Given the description of an element on the screen output the (x, y) to click on. 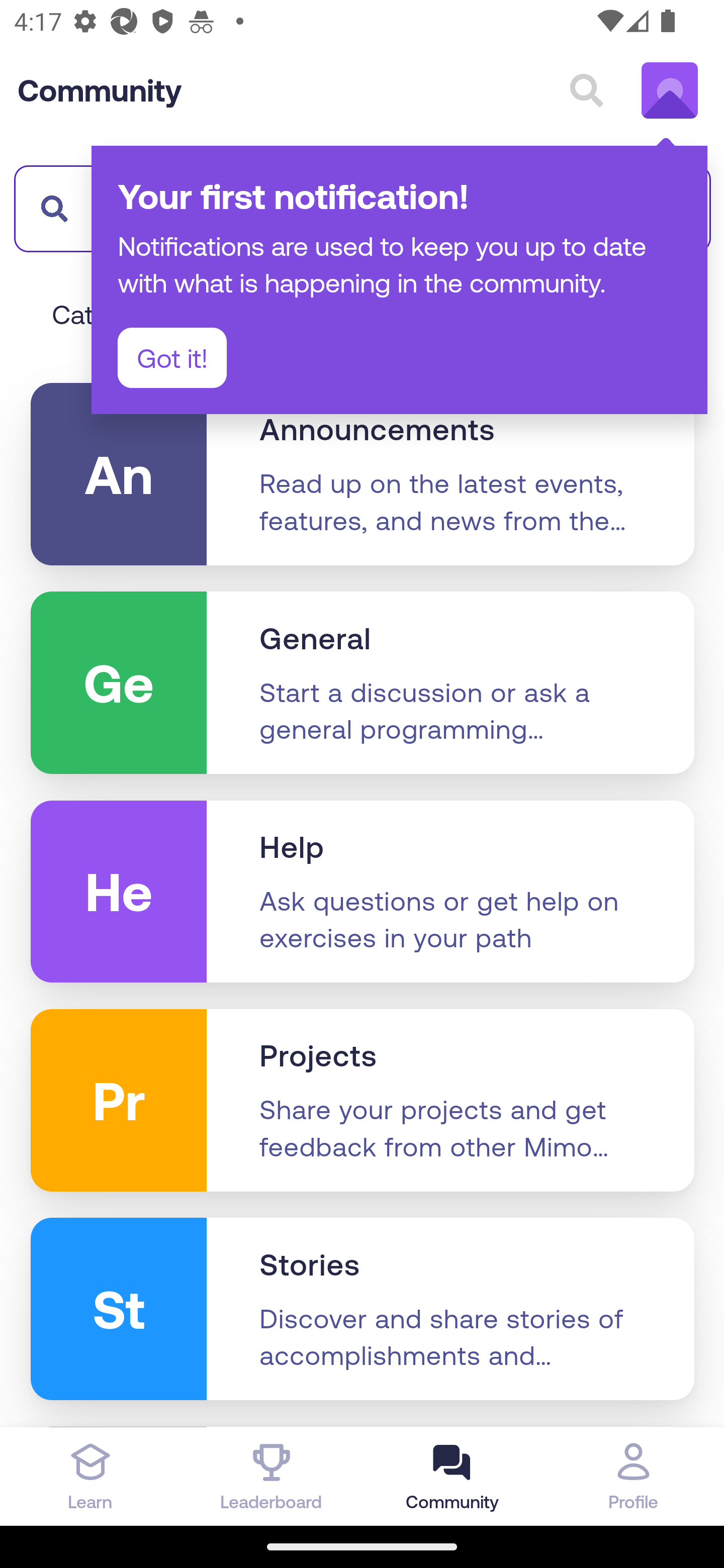
Search (586, 90)
Test Appium's account (669, 90)
Community (100, 90)
​ (48, 207)
Got it! (171, 357)
Announcements (376, 429)
General (315, 639)
Help (291, 847)
Projects (317, 1056)
Stories (309, 1265)
Learn (90, 1475)
Leaderboard (271, 1475)
Profile (633, 1475)
